Given the description of an element on the screen output the (x, y) to click on. 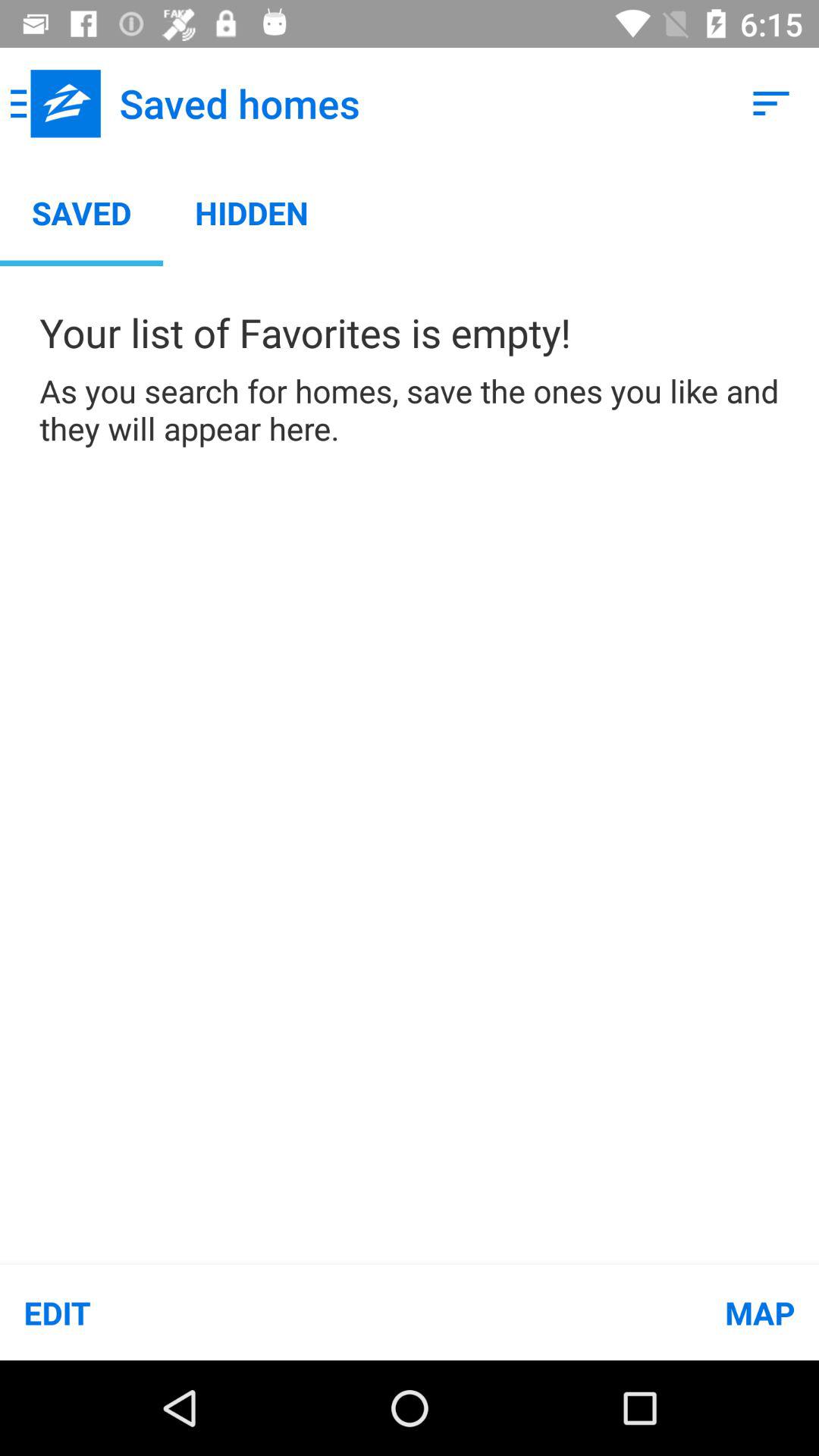
choose the icon next to the saved homes icon (55, 103)
